Given the description of an element on the screen output the (x, y) to click on. 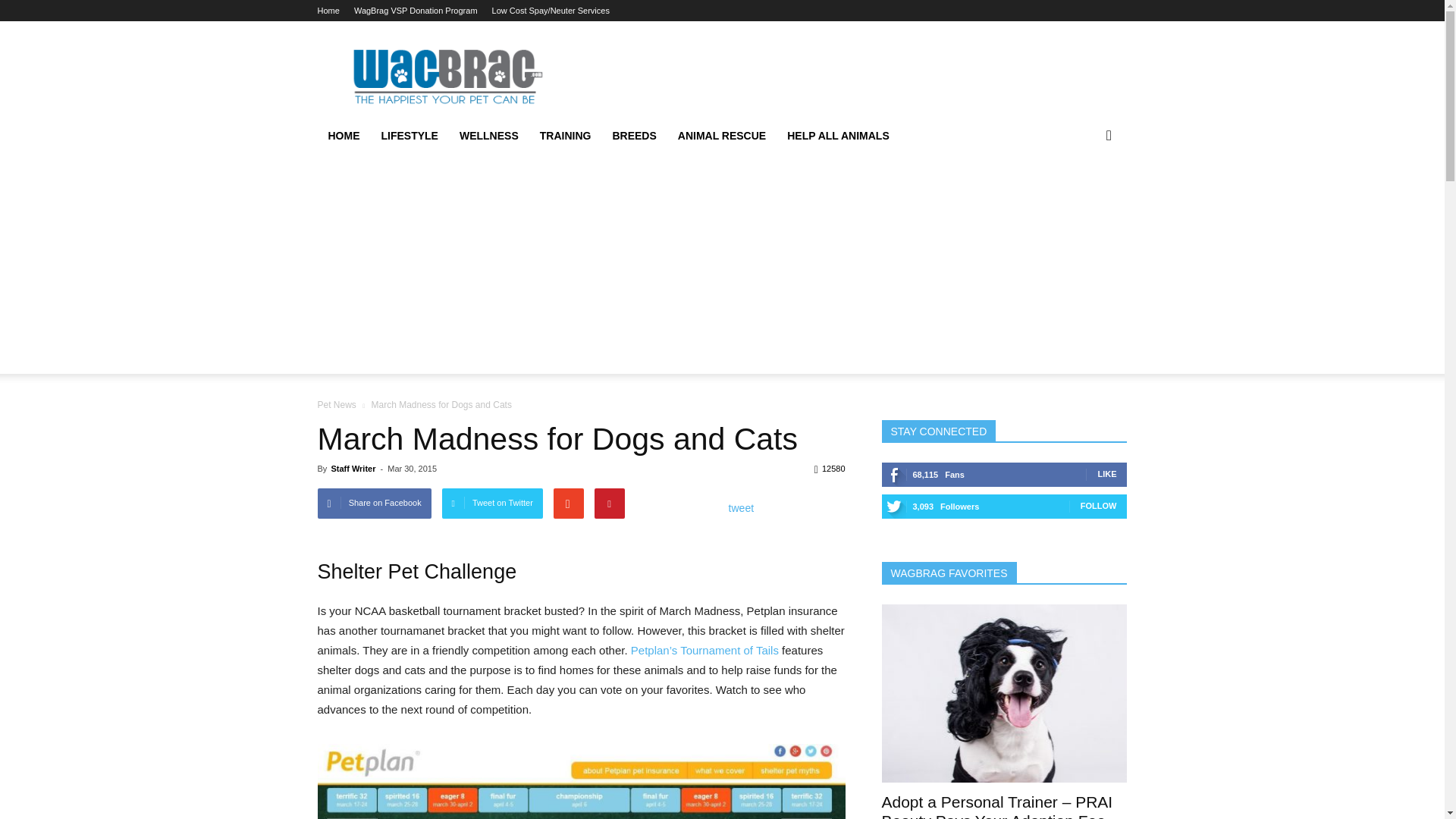
Home (343, 135)
Staff Writer (352, 468)
Search (1085, 196)
LIFESTYLE (408, 135)
ANIMAL RESCUE (721, 135)
Pet News (337, 404)
tweet (741, 507)
View all posts in Pet News (337, 404)
PetPlan's Tournament of Tails (704, 649)
Share on Facebook (373, 503)
